Given the description of an element on the screen output the (x, y) to click on. 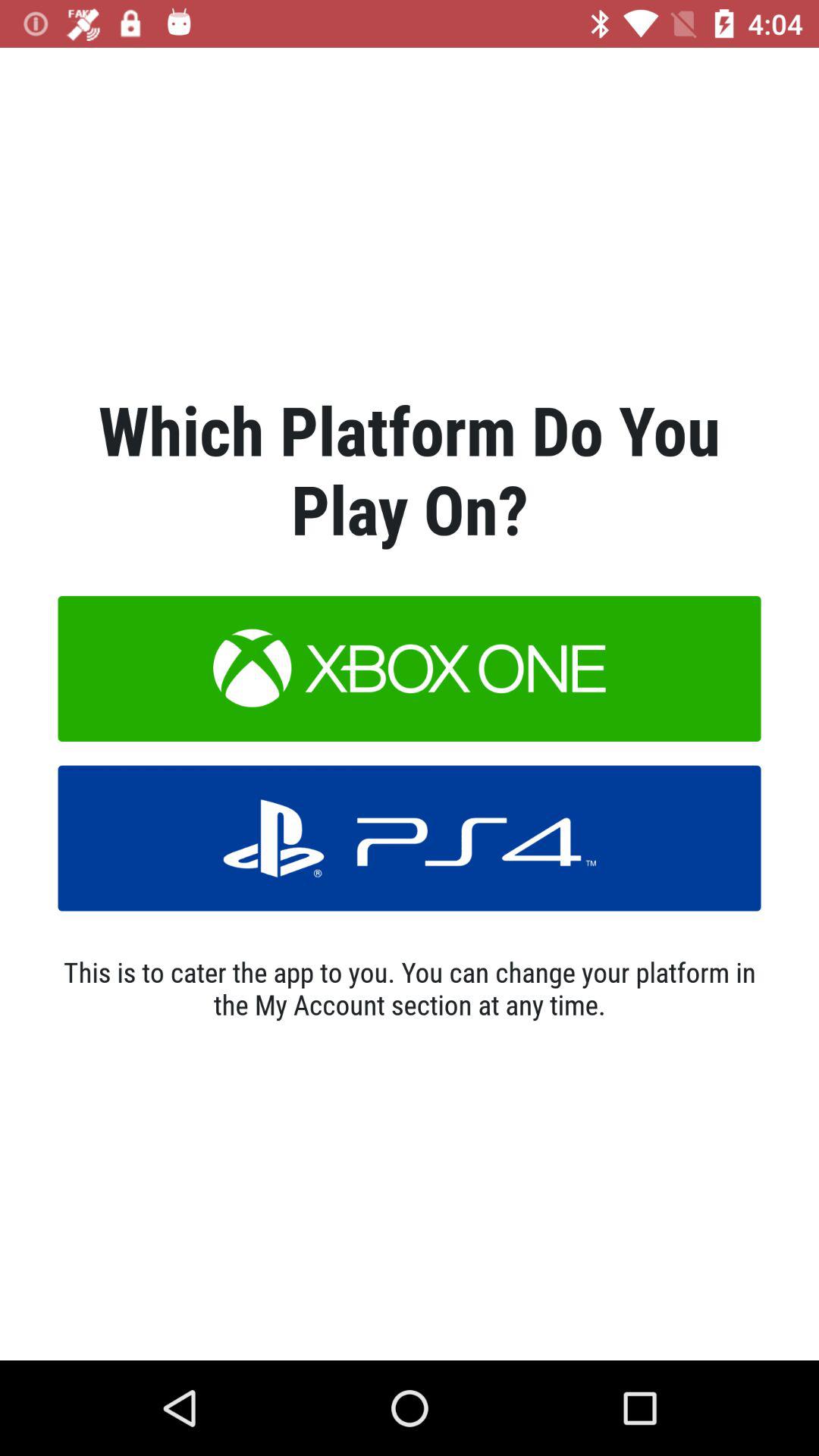
turn off icon below the which platform do (409, 668)
